Given the description of an element on the screen output the (x, y) to click on. 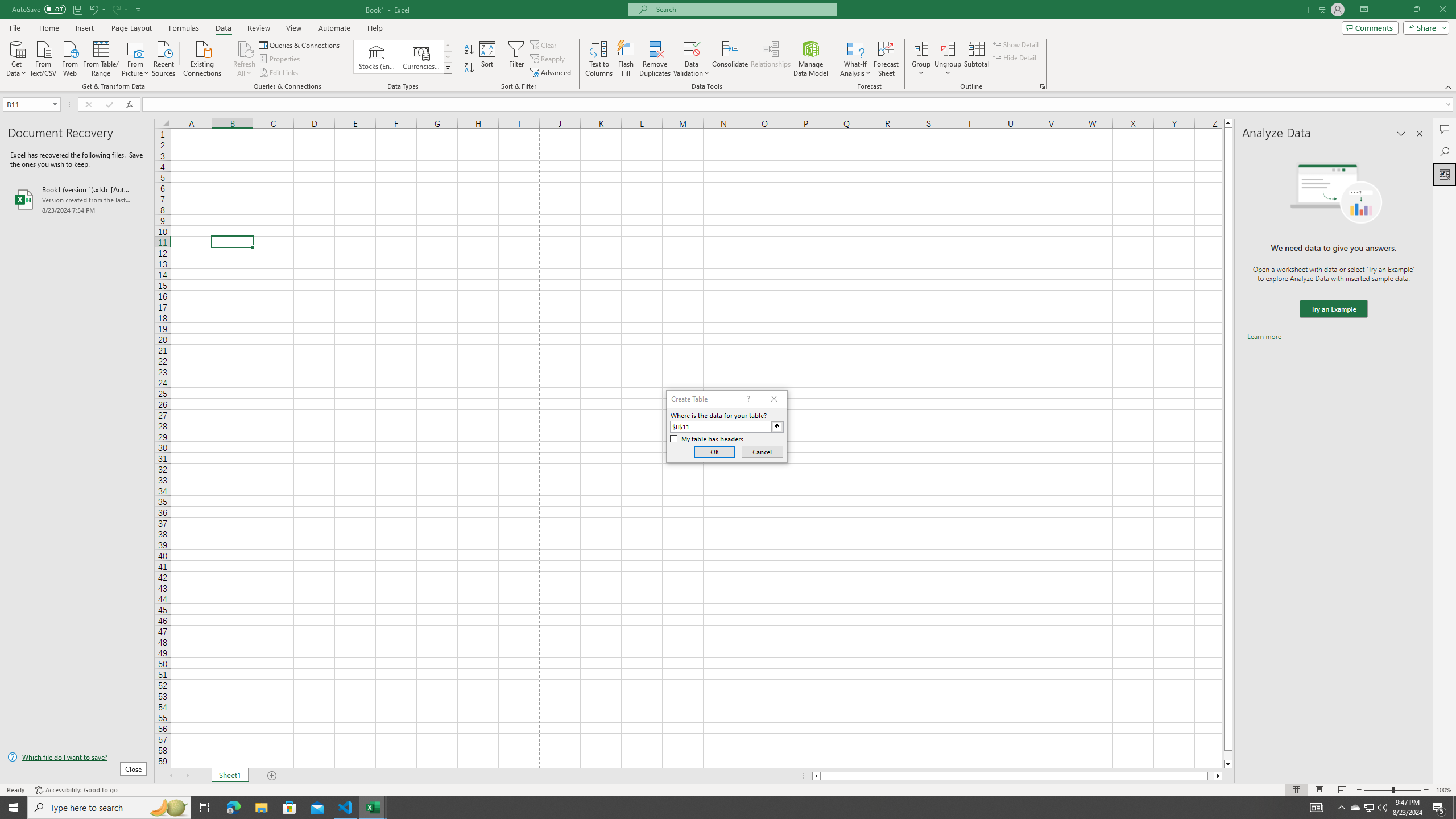
Hide Detail (1014, 56)
